Given the description of an element on the screen output the (x, y) to click on. 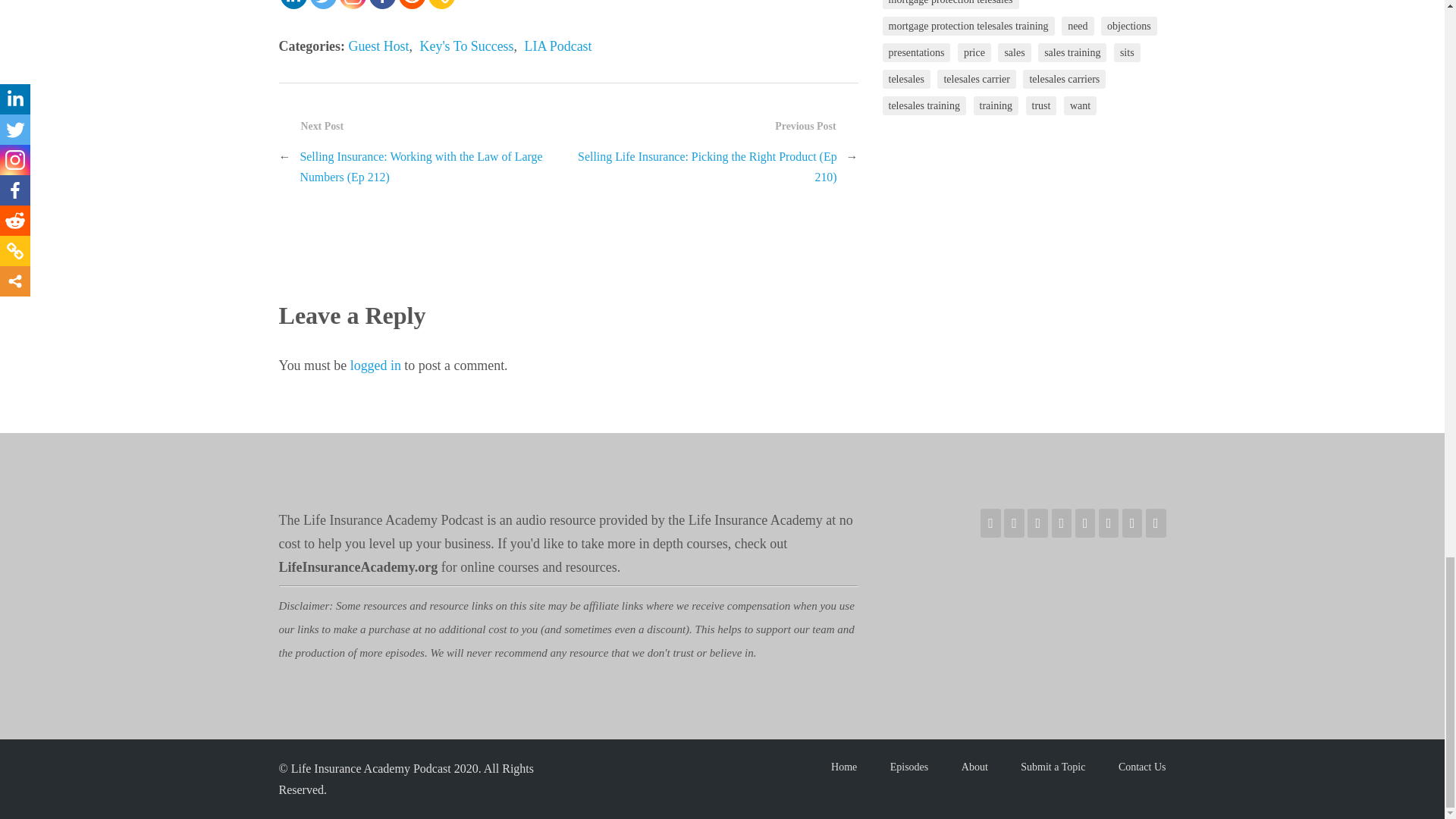
Twitter (322, 4)
LIA Podcast (558, 46)
Instagram (352, 4)
Linkedin (294, 4)
Facebook (381, 4)
logged in (375, 365)
Key's To Success (466, 46)
Copy Link (441, 4)
Reddit (411, 4)
Guest Host (378, 46)
